Given the description of an element on the screen output the (x, y) to click on. 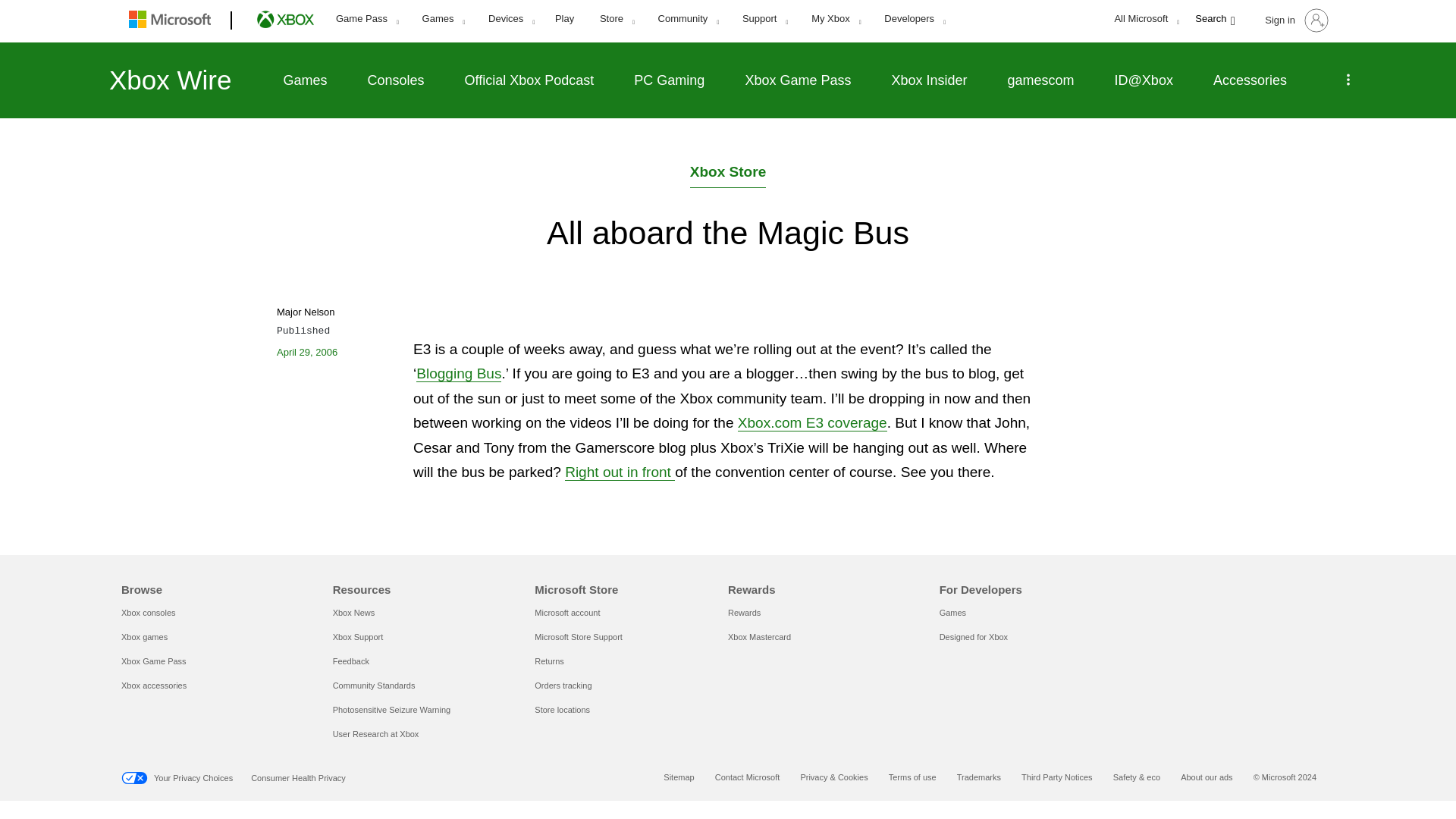
Devices (511, 18)
Games (443, 18)
Microsoft (172, 20)
Game Pass (366, 18)
